Given the description of an element on the screen output the (x, y) to click on. 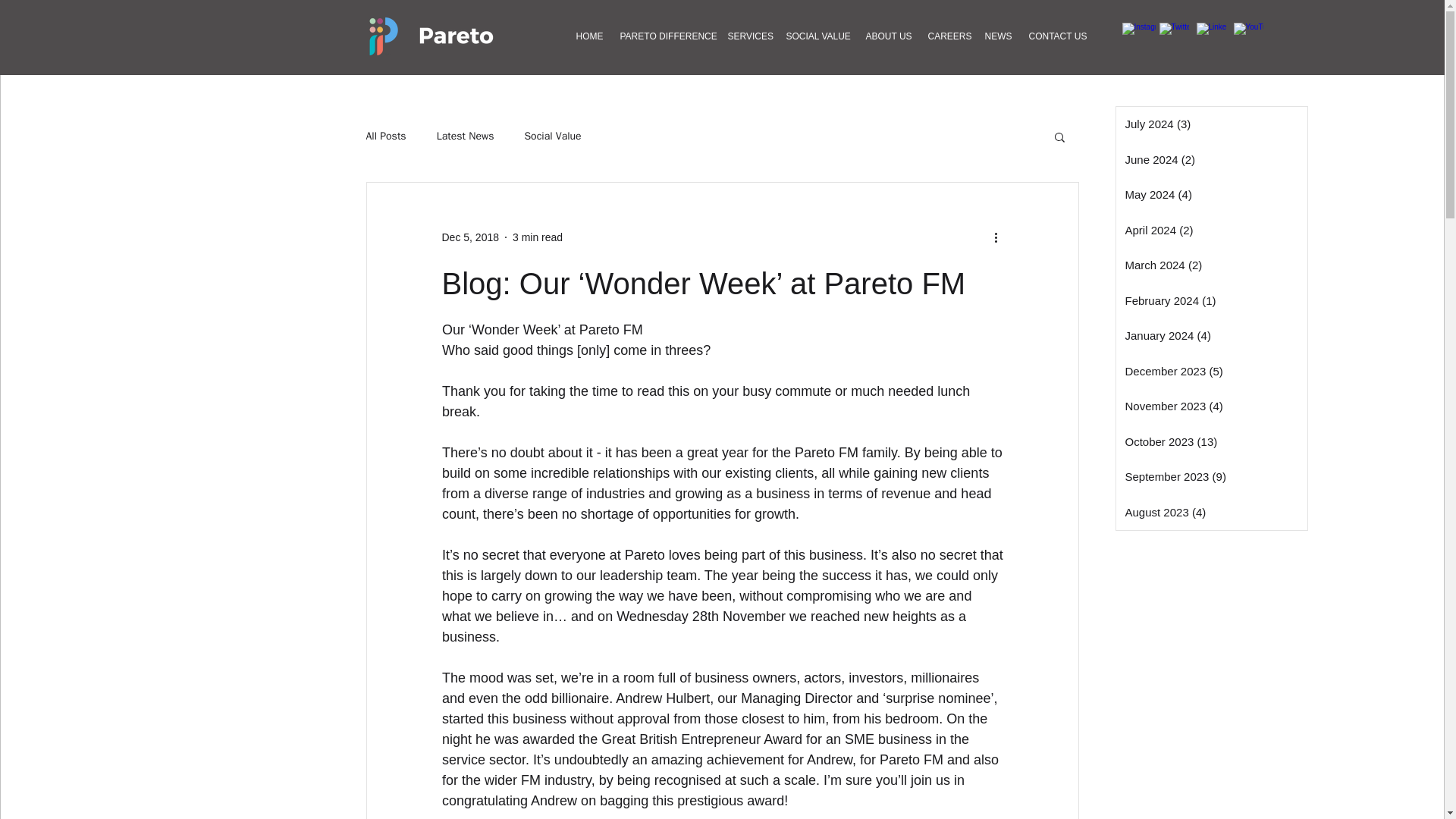
Social Value (552, 136)
PARETO DIFFERENCE (665, 36)
SERVICES (748, 36)
SOCIAL VALUE (817, 36)
All Posts (385, 136)
HOME (589, 36)
CAREERS (946, 36)
CONTACT US (1056, 36)
Dec 5, 2018 (470, 236)
3 min read (537, 236)
Latest News (465, 136)
ABOUT US (887, 36)
NEWS (998, 36)
